Given the description of an element on the screen output the (x, y) to click on. 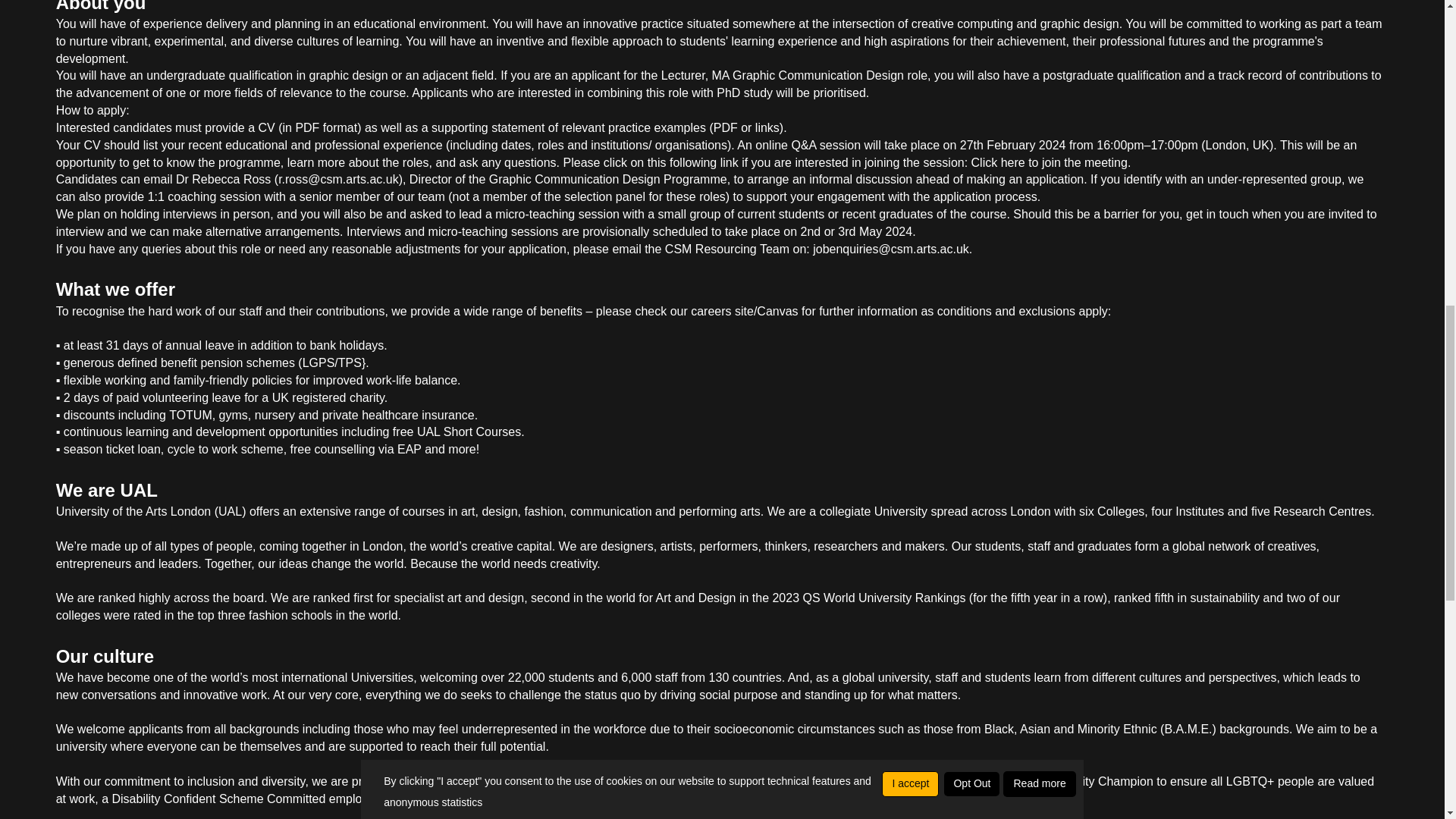
Click here to join the meeting. (1051, 162)
